Given the description of an element on the screen output the (x, y) to click on. 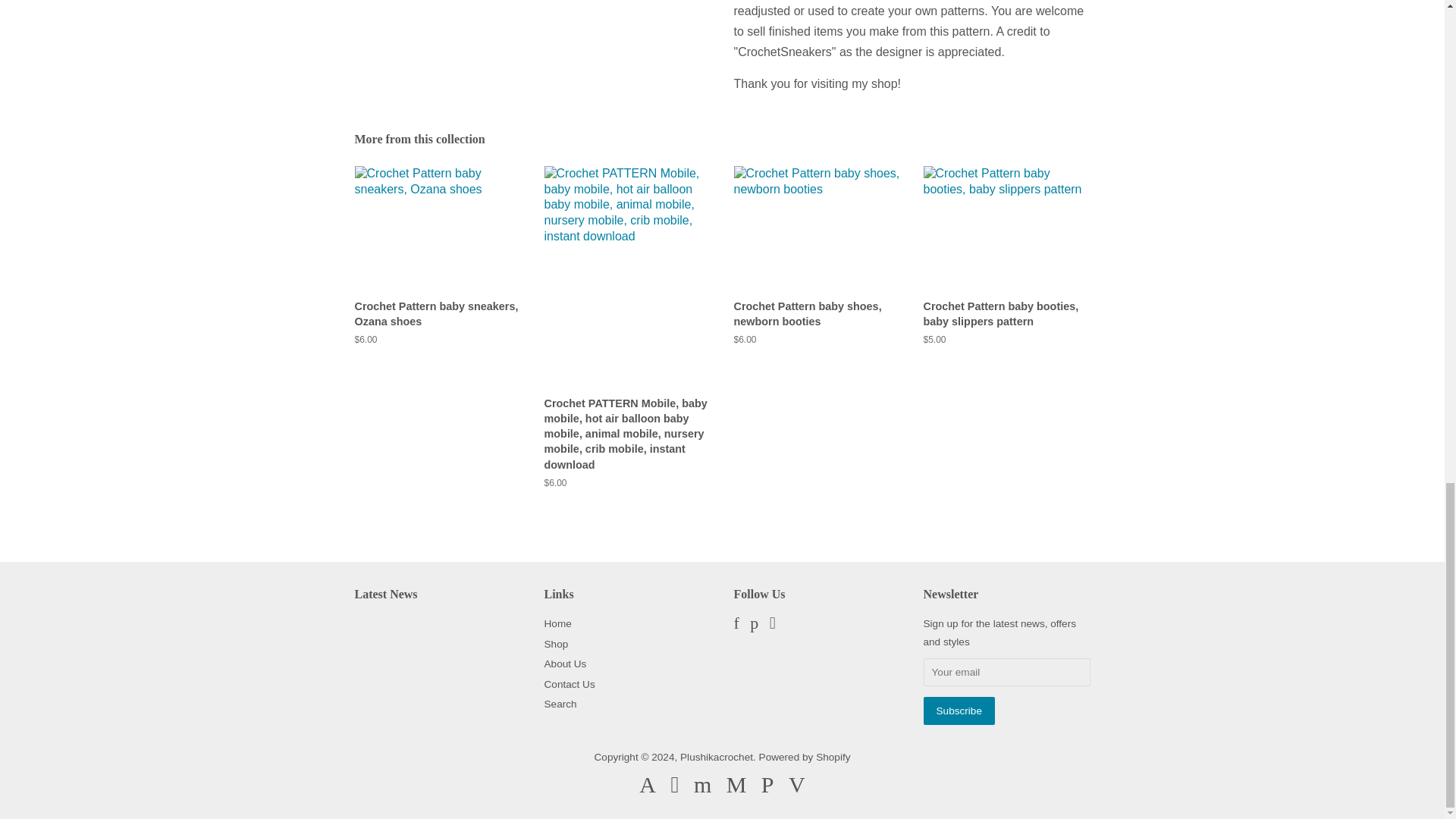
Contact Us (569, 684)
About Us (565, 663)
Shop (556, 644)
Home (558, 623)
Subscribe (958, 709)
Latest News (386, 594)
